Given the description of an element on the screen output the (x, y) to click on. 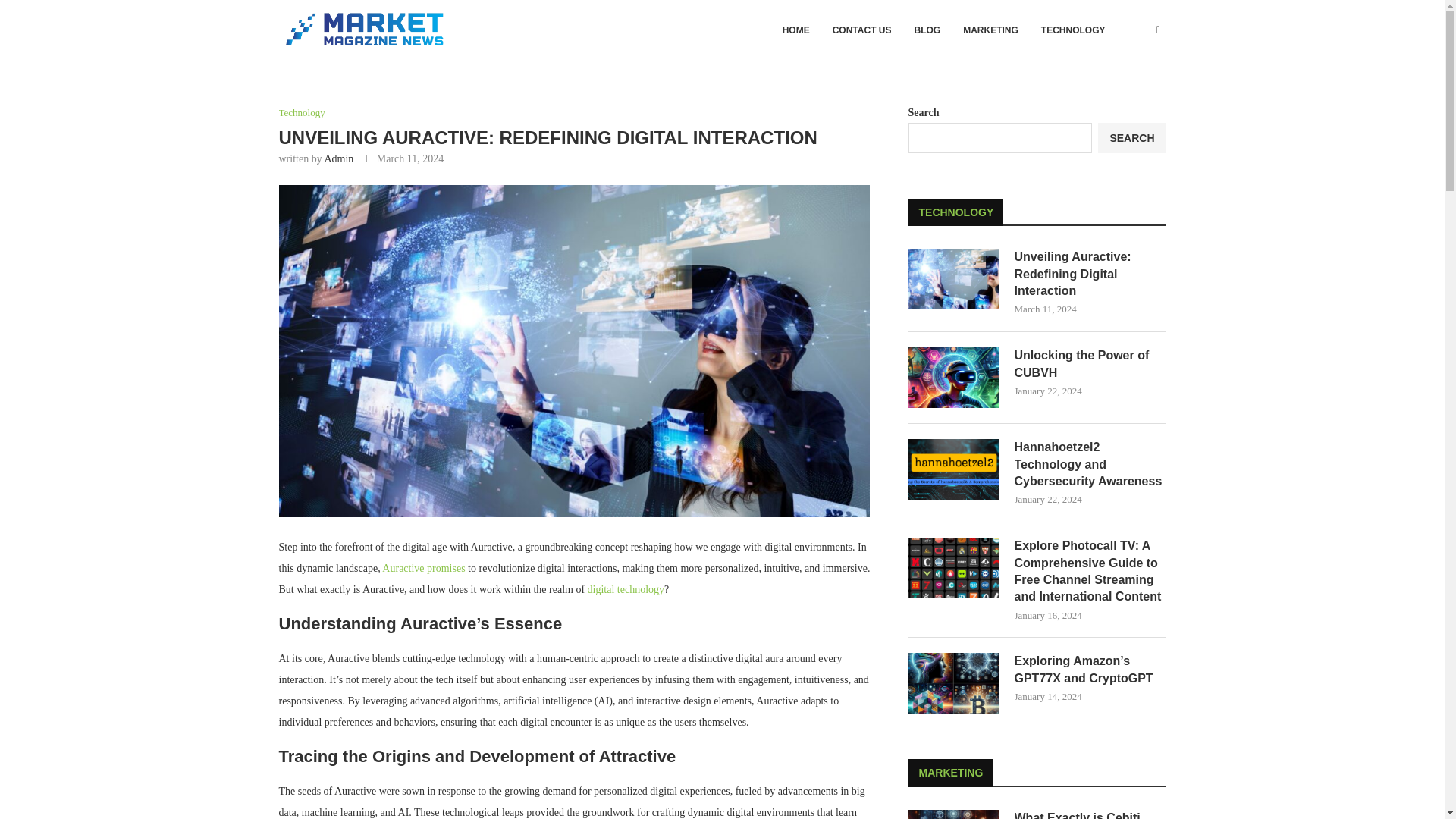
HOME (796, 30)
CONTACT US (861, 30)
MARKETING (990, 30)
Technology (301, 112)
TECHNOLOGY (1072, 30)
digital technology (625, 589)
Admin (338, 158)
Auractive promises (422, 568)
BLOG (927, 30)
